Given the description of an element on the screen output the (x, y) to click on. 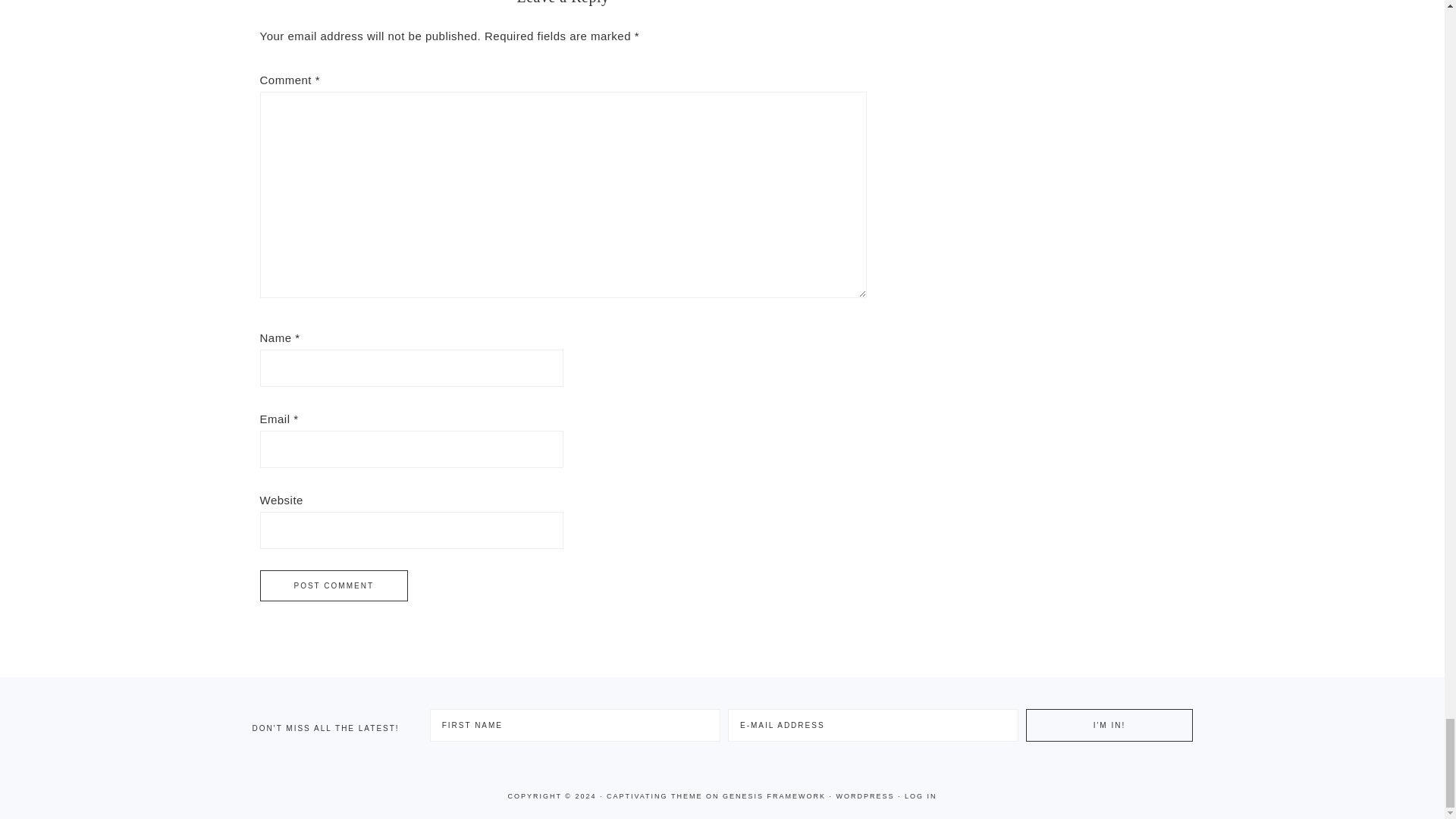
Post Comment (333, 585)
I'm in! (1109, 725)
